Given the description of an element on the screen output the (x, y) to click on. 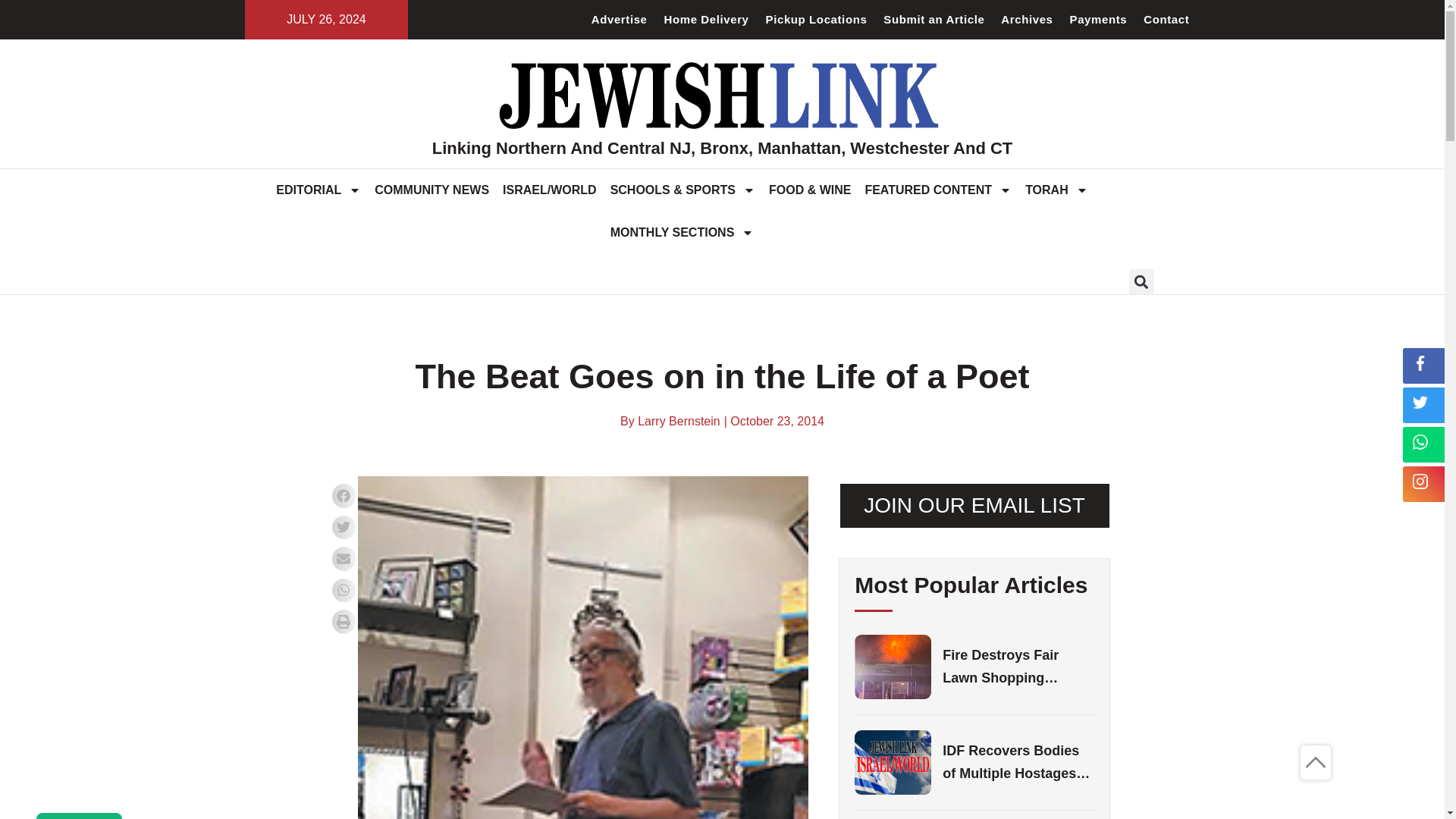
Home Delivery (706, 19)
Contact (1165, 19)
Pickup Locations (816, 19)
Archives (1026, 19)
Payments (1098, 19)
Submit an Article (933, 19)
Advertise (619, 19)
